Given the description of an element on the screen output the (x, y) to click on. 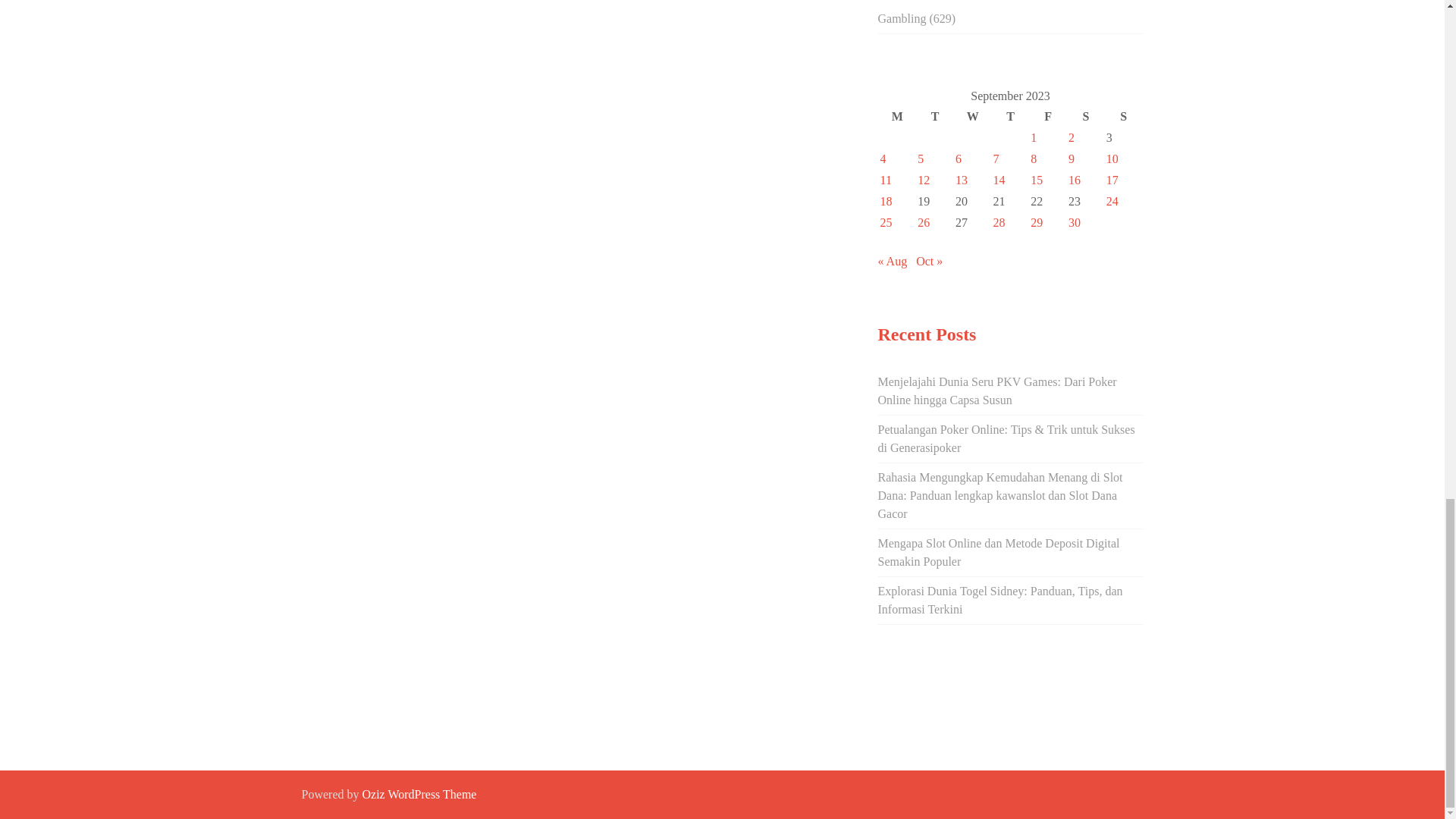
Thursday (1010, 116)
Gambling (901, 18)
Tuesday (935, 116)
Sunday (1123, 116)
Wednesday (973, 116)
Saturday (1085, 116)
Friday (1047, 116)
Monday (897, 116)
